Given the description of an element on the screen output the (x, y) to click on. 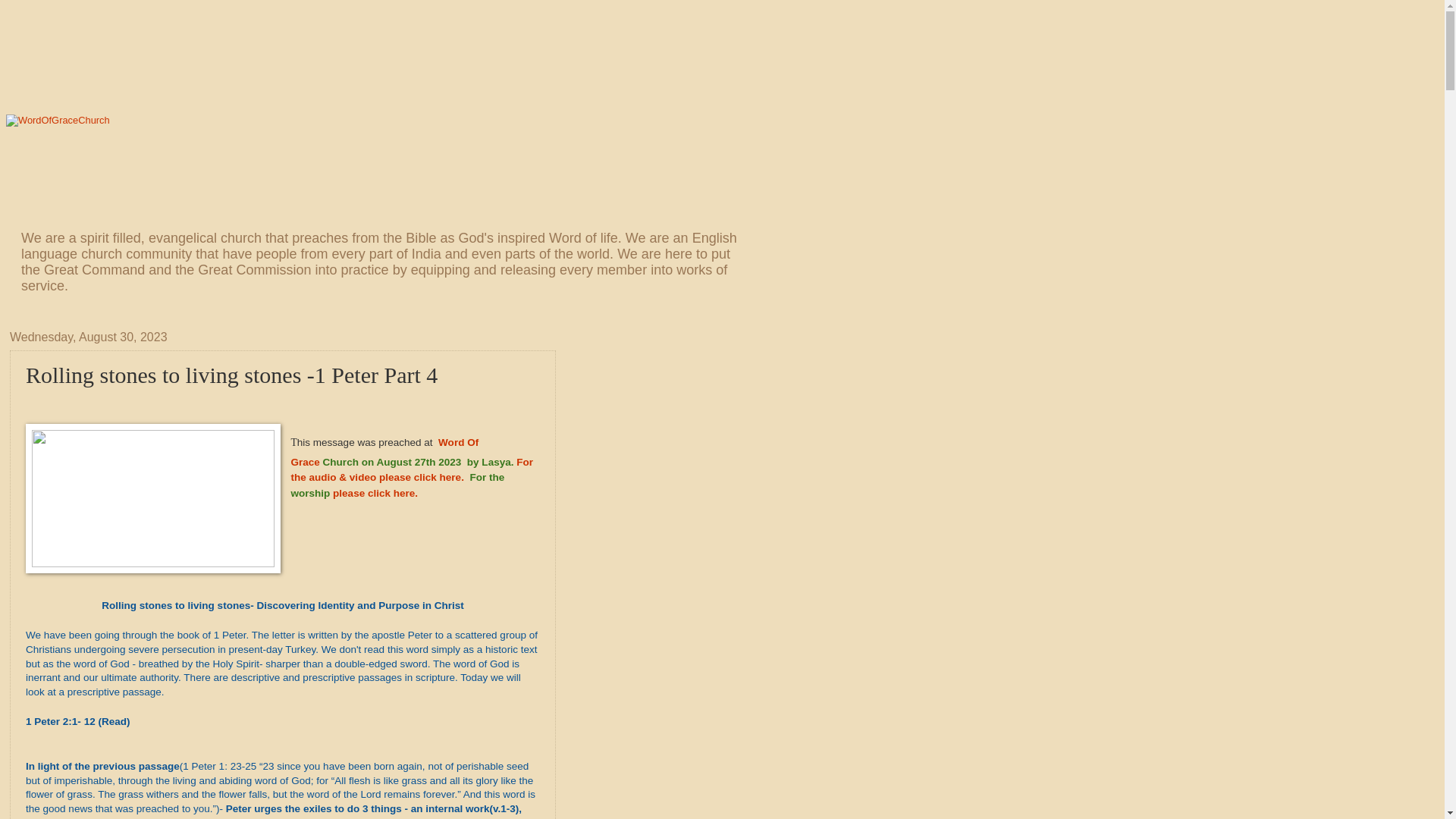
click here (437, 477)
please click here. (375, 492)
